Given the description of an element on the screen output the (x, y) to click on. 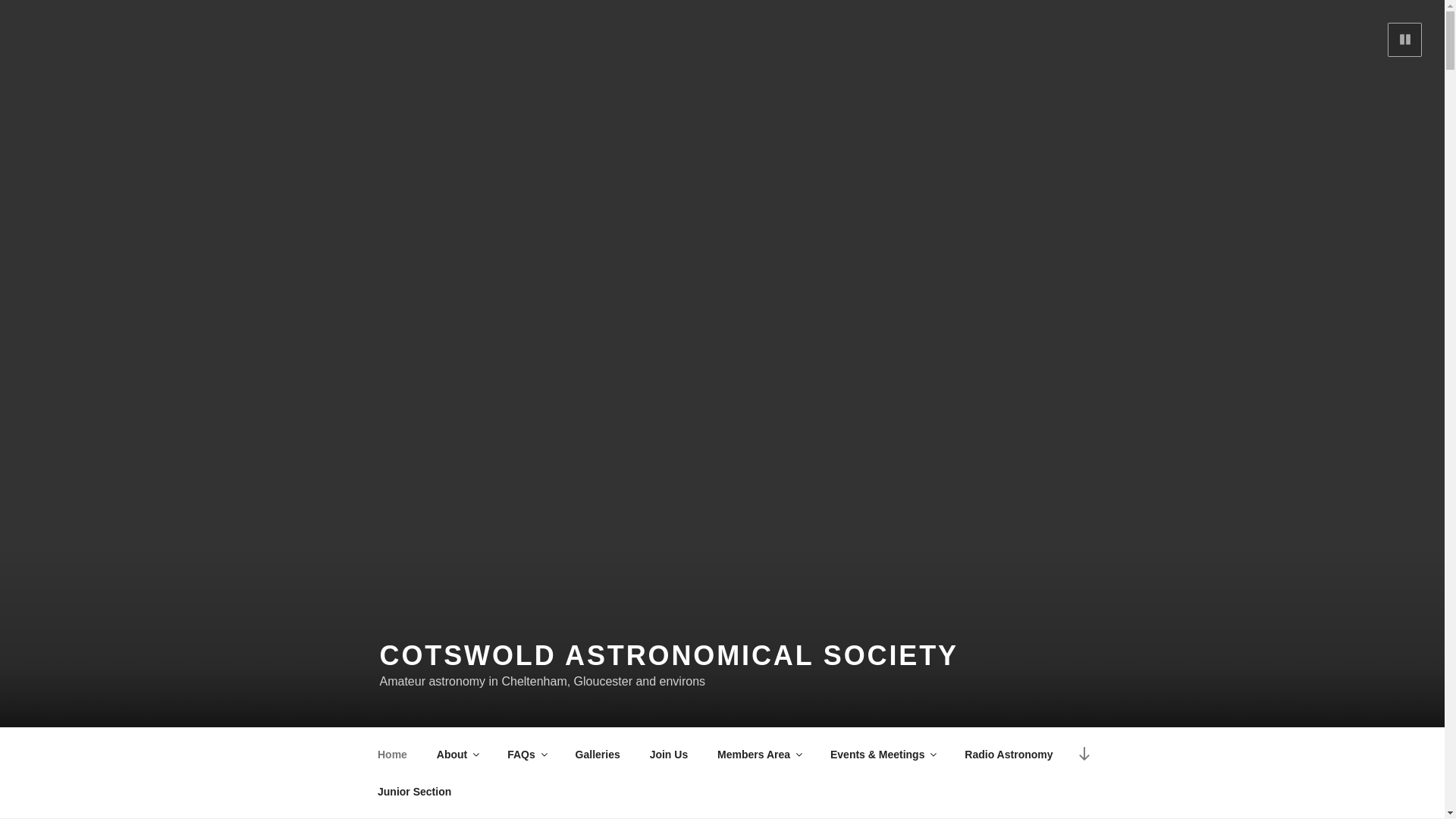
About (456, 754)
Join Us (668, 754)
COTSWOLD ASTRONOMICAL SOCIETY (668, 654)
Galleries (597, 754)
Radio Astronomy (1008, 754)
Scroll down to content (1082, 754)
FAQs (527, 754)
Members Area (758, 754)
Pause background video (1404, 39)
Home (392, 754)
